Given the description of an element on the screen output the (x, y) to click on. 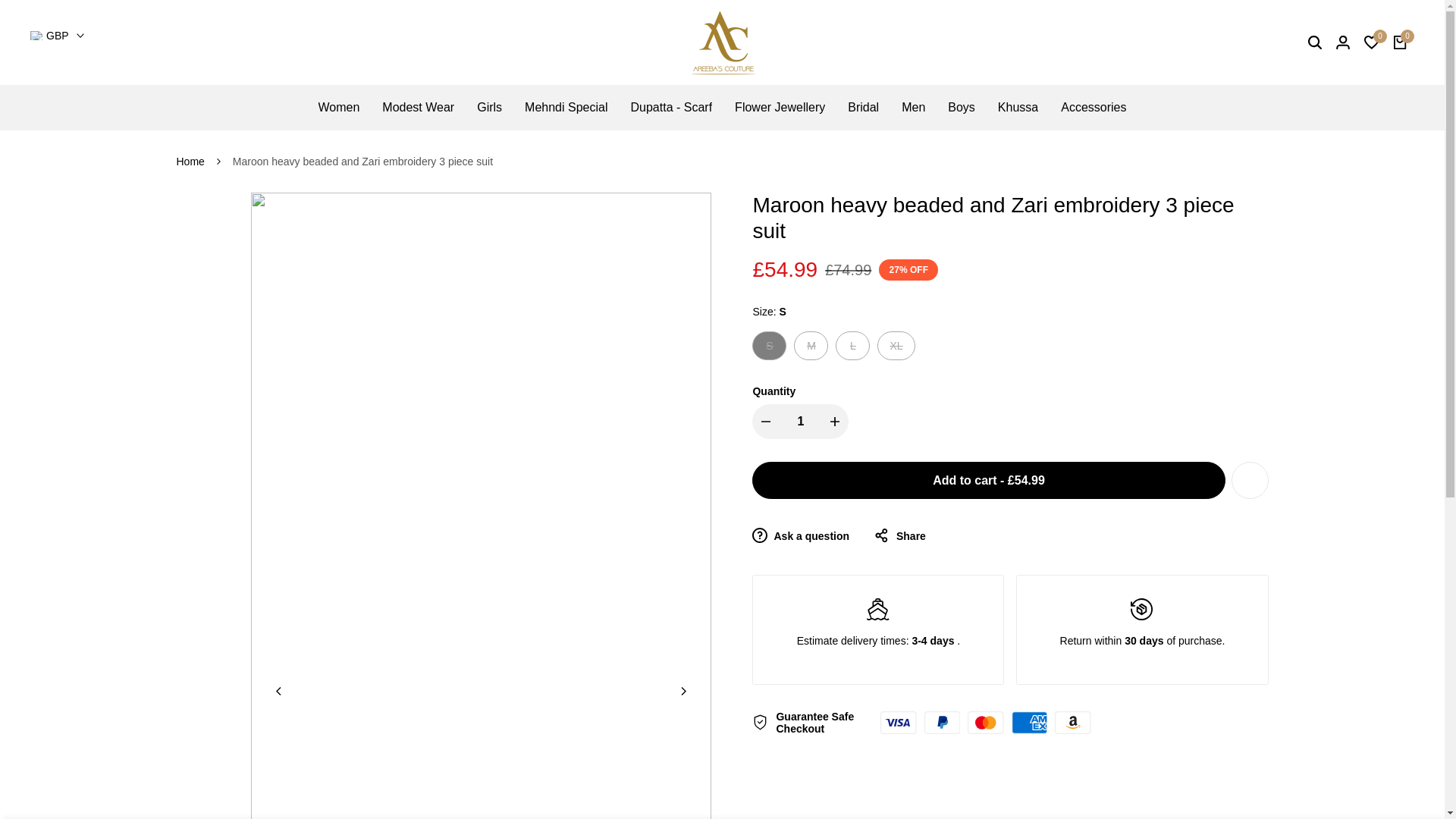
American Express (1029, 722)
Mastercard (985, 722)
1 (800, 421)
Skip to content (7, 3)
Visa (897, 722)
0 (1371, 42)
0 (1399, 42)
GBP (57, 35)
PayPal (942, 722)
